Given the description of an element on the screen output the (x, y) to click on. 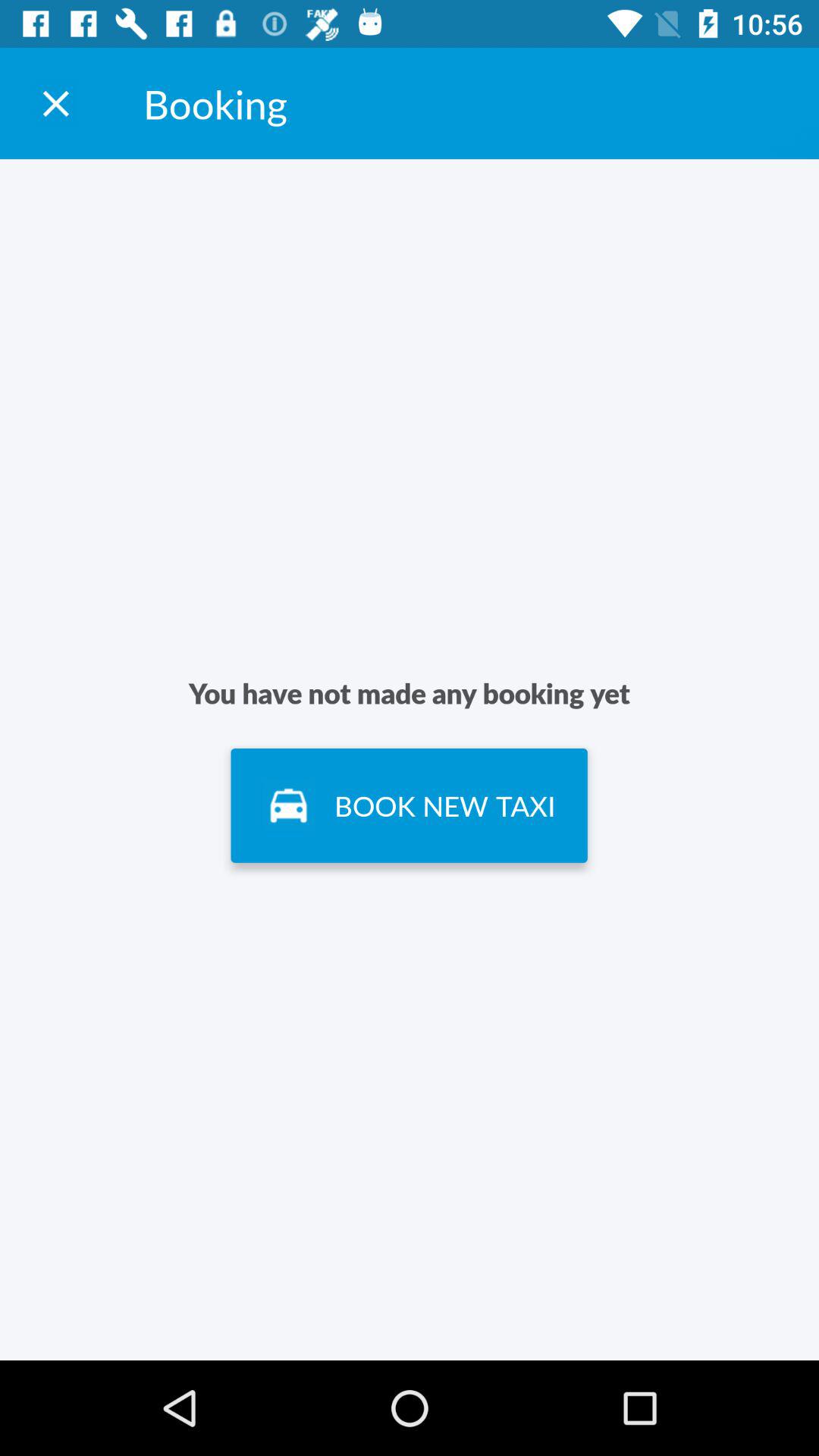
click icon next to booking item (55, 103)
